Given the description of an element on the screen output the (x, y) to click on. 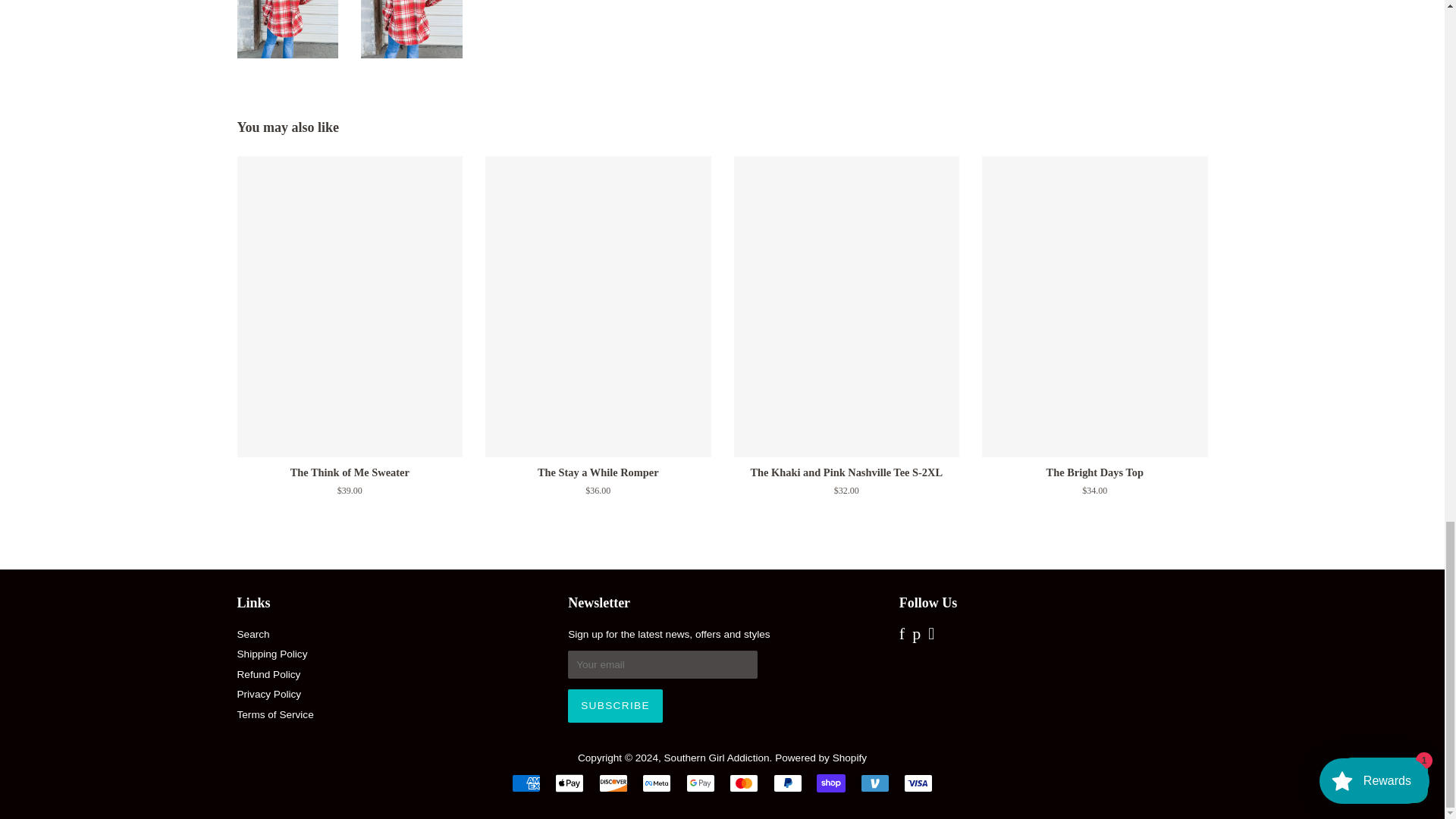
Meta Pay (656, 782)
Visa (918, 782)
Discover (612, 782)
Shop Pay (830, 782)
Apple Pay (568, 782)
PayPal (787, 782)
Google Pay (699, 782)
American Express (526, 782)
Mastercard (743, 782)
Subscribe (614, 705)
Venmo (874, 782)
